Given the description of an element on the screen output the (x, y) to click on. 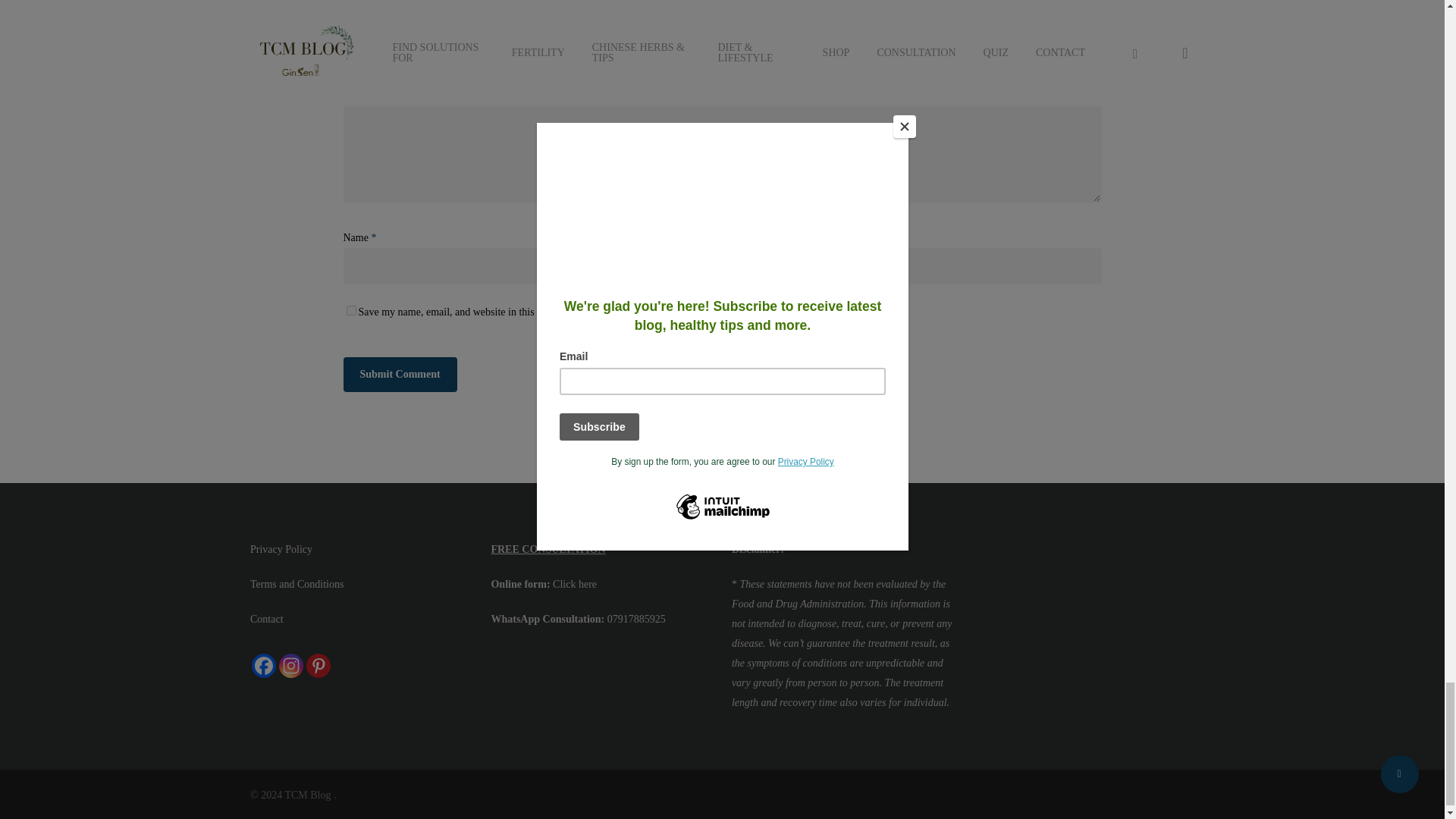
Submit Comment (399, 374)
yes (350, 310)
